Given the description of an element on the screen output the (x, y) to click on. 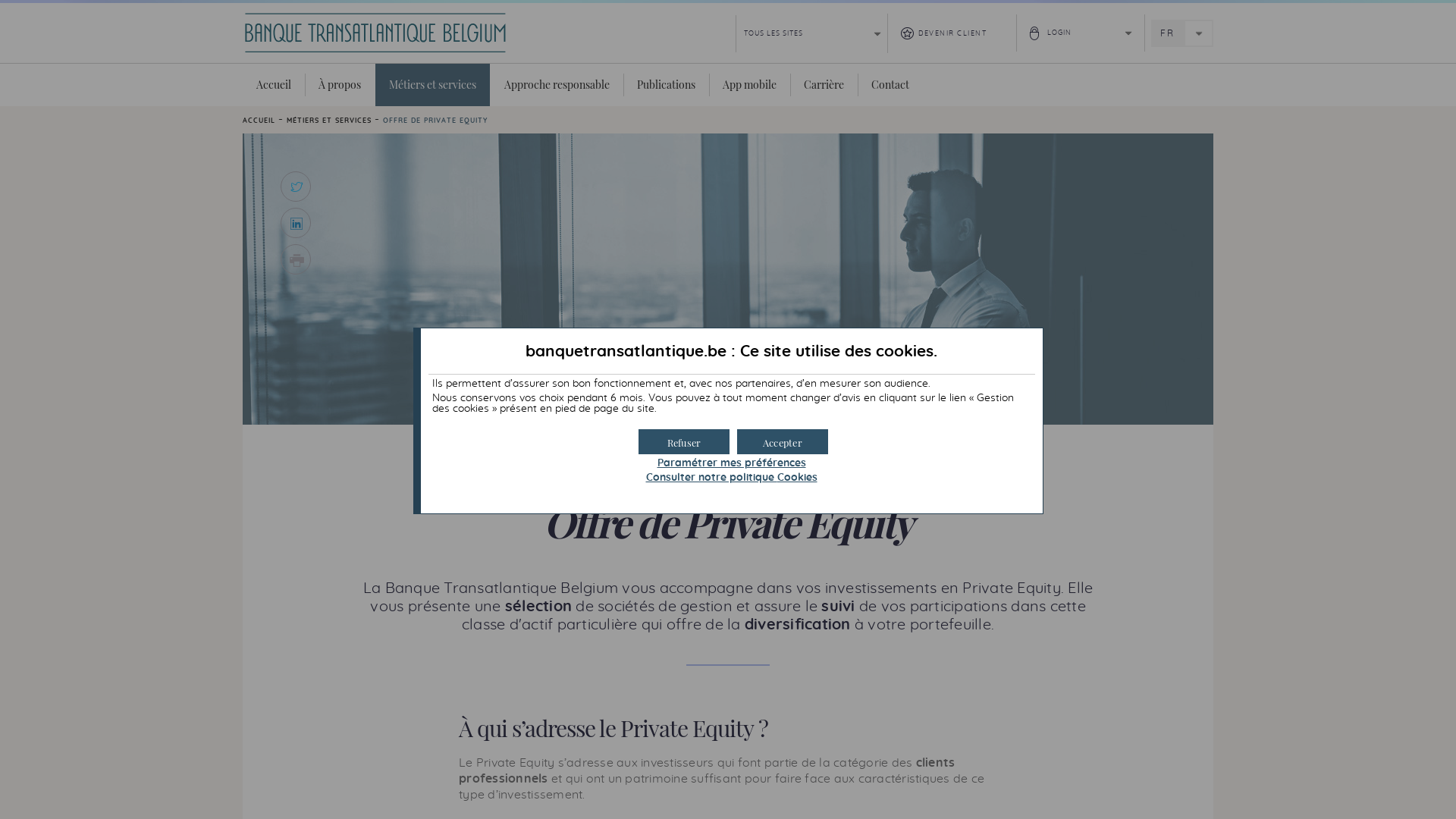
LinkedIn Element type: text (295, 222)
Contact Element type: text (889, 84)
Imprimer Element type: text (295, 259)
DEVENIR CLIENT Element type: text (952, 33)
Accepter Element type: text (782, 441)
Consulter notre politique Cookies Element type: text (731, 477)
Accueil Element type: text (273, 84)
ACCUEIL Element type: text (258, 120)
Refuser Element type: text (683, 441)
Twitter Element type: text (295, 186)
App mobile Element type: text (749, 84)
Approche responsable Element type: text (556, 84)
Publications Element type: text (666, 84)
